Given the description of an element on the screen output the (x, y) to click on. 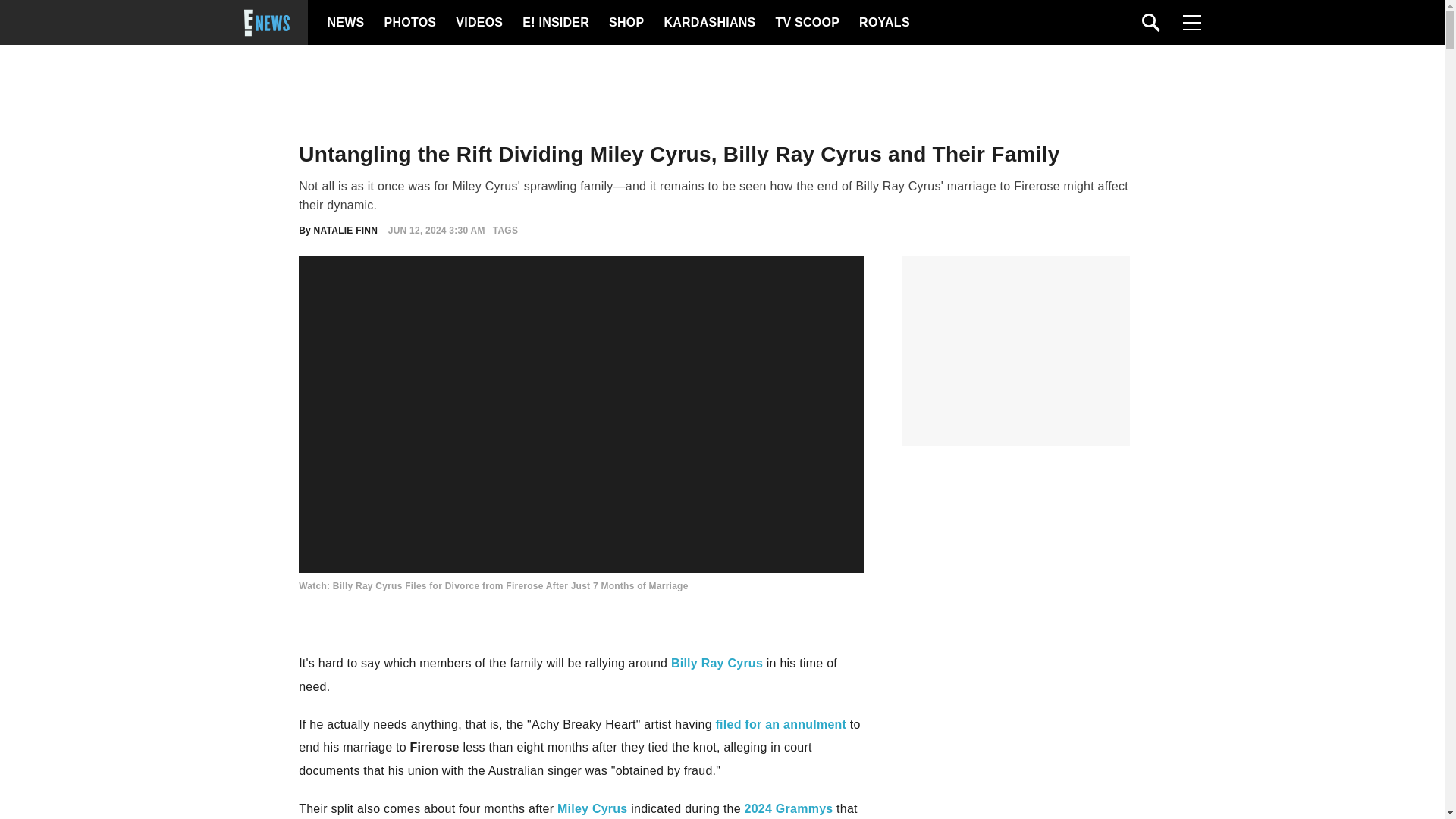
NATALIE FINN (346, 230)
Miley Cyrus (592, 808)
filed for an annulment (781, 724)
KARDASHIANS (708, 22)
2024 Grammys (788, 808)
VIDEOS (478, 22)
PHOTOS (408, 22)
ROYALS (883, 22)
SHOP (625, 22)
E! INSIDER (555, 22)
